Given the description of an element on the screen output the (x, y) to click on. 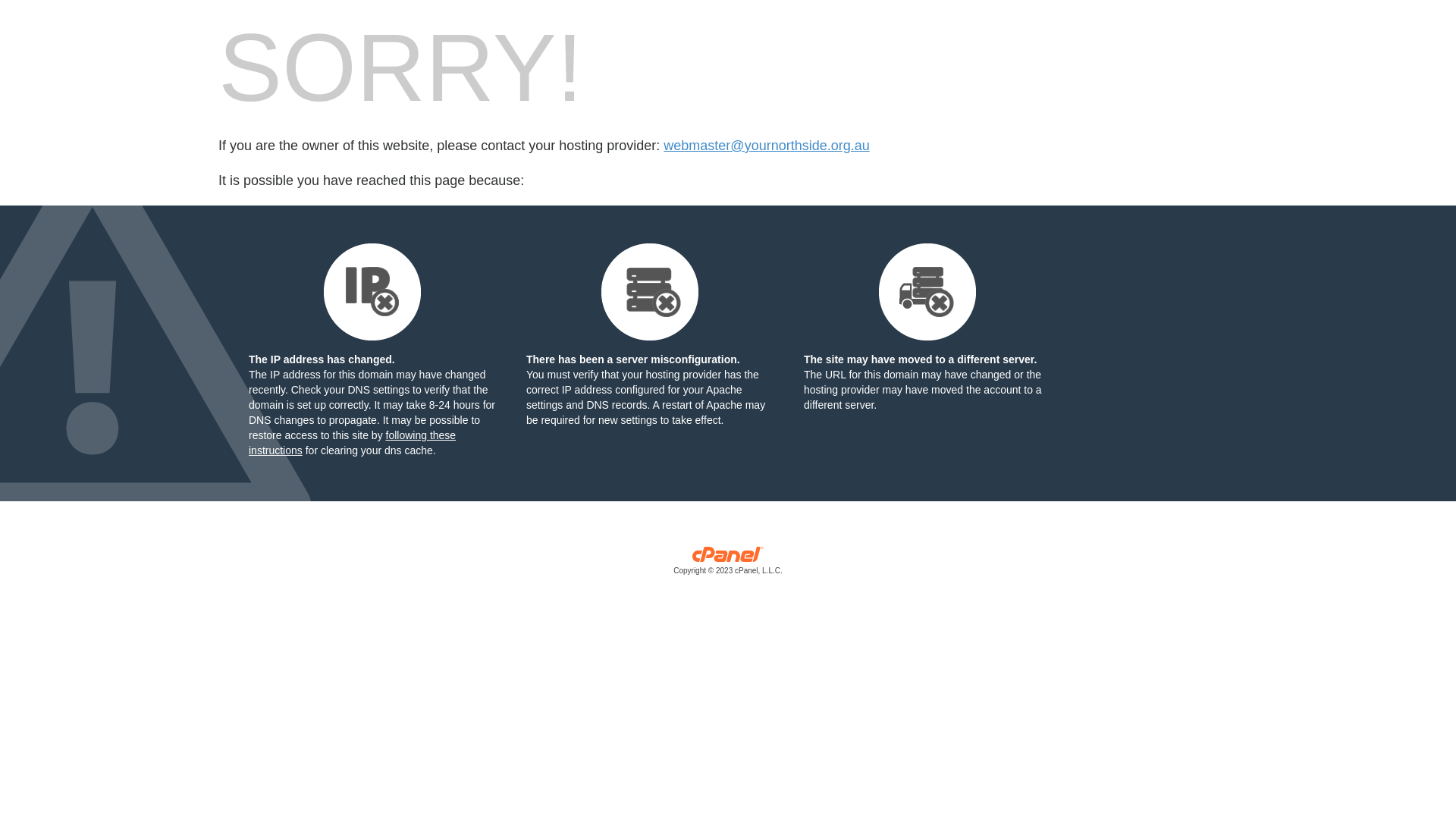
webmaster@yournorthside.org.au Element type: text (766, 145)
following these instructions Element type: text (351, 442)
